Given the description of an element on the screen output the (x, y) to click on. 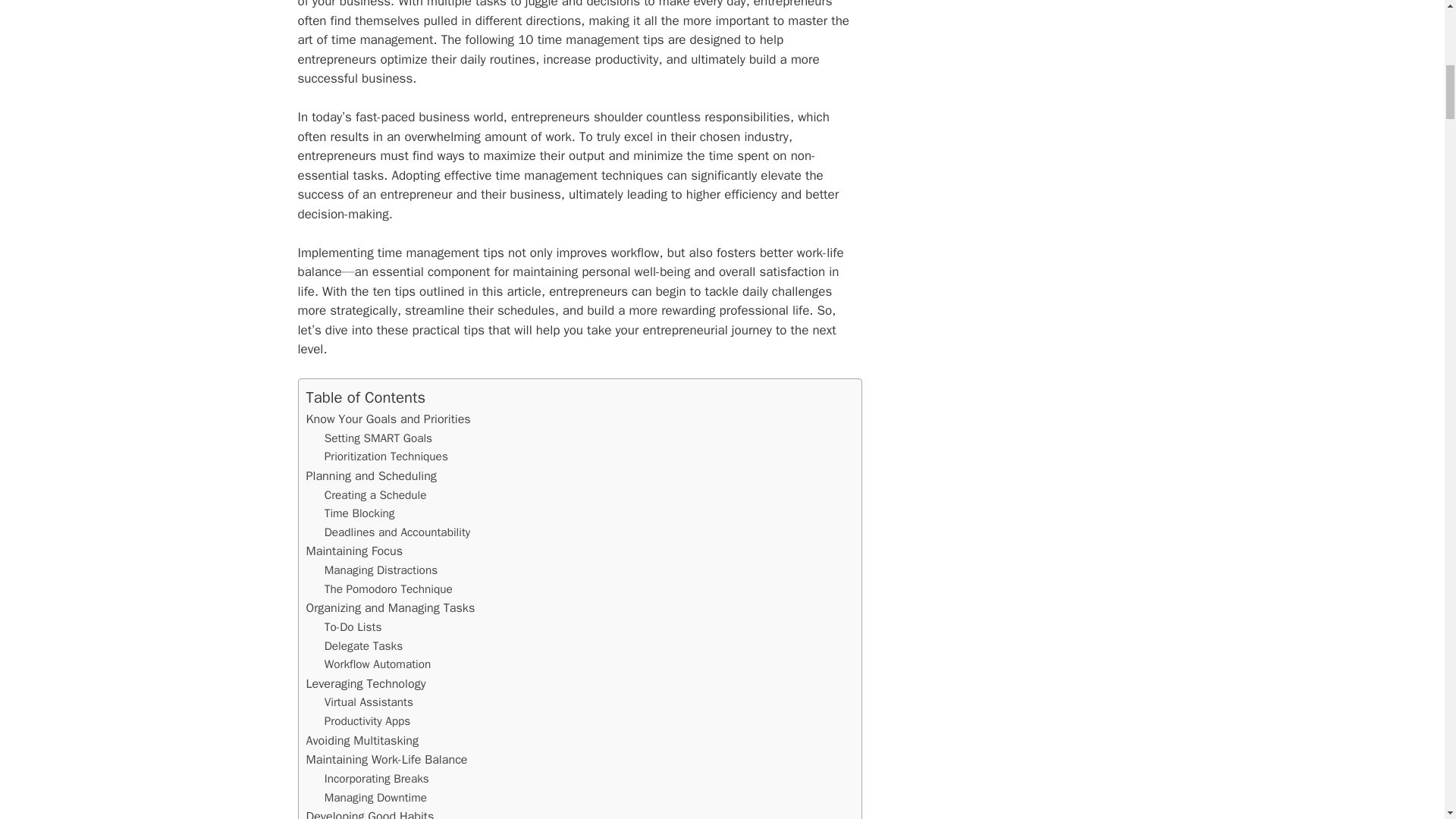
Creating a Schedule (375, 494)
Time Blocking (359, 513)
Setting SMART Goals (378, 437)
Planning and Scheduling (370, 475)
Prioritization Techniques (386, 456)
Know Your Goals and Priorities (387, 418)
